Given the description of an element on the screen output the (x, y) to click on. 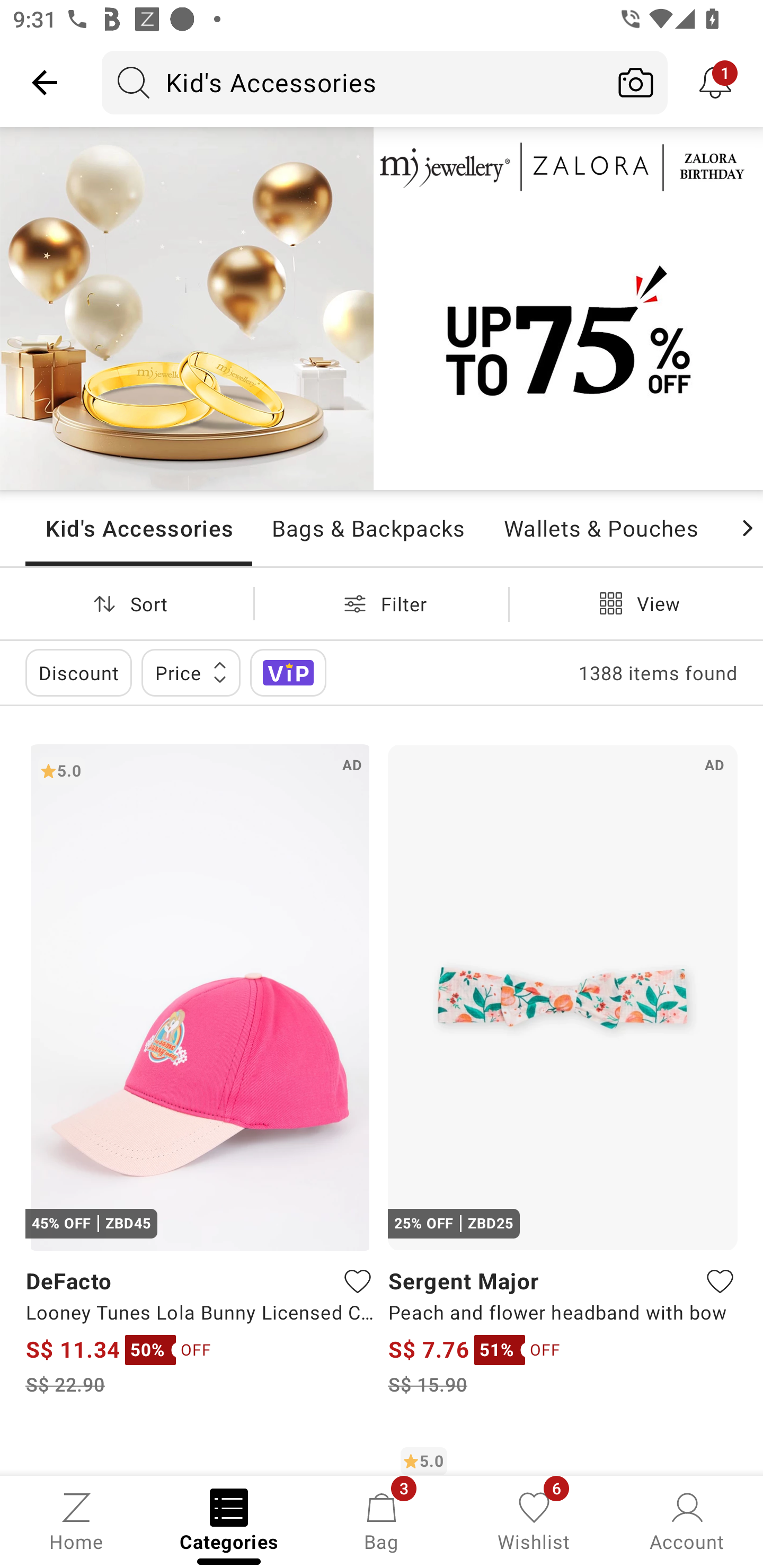
Navigate up (44, 82)
Kid's Accessories (352, 82)
Bags & Backpacks (368, 527)
Wallets & Pouches (600, 527)
Sort (126, 603)
Filter (381, 603)
View (636, 603)
Discount (78, 672)
Price (190, 672)
Home (76, 1519)
Bag, 3 new notifications Bag (381, 1519)
Wishlist, 6 new notifications Wishlist (533, 1519)
Account (686, 1519)
